Given the description of an element on the screen output the (x, y) to click on. 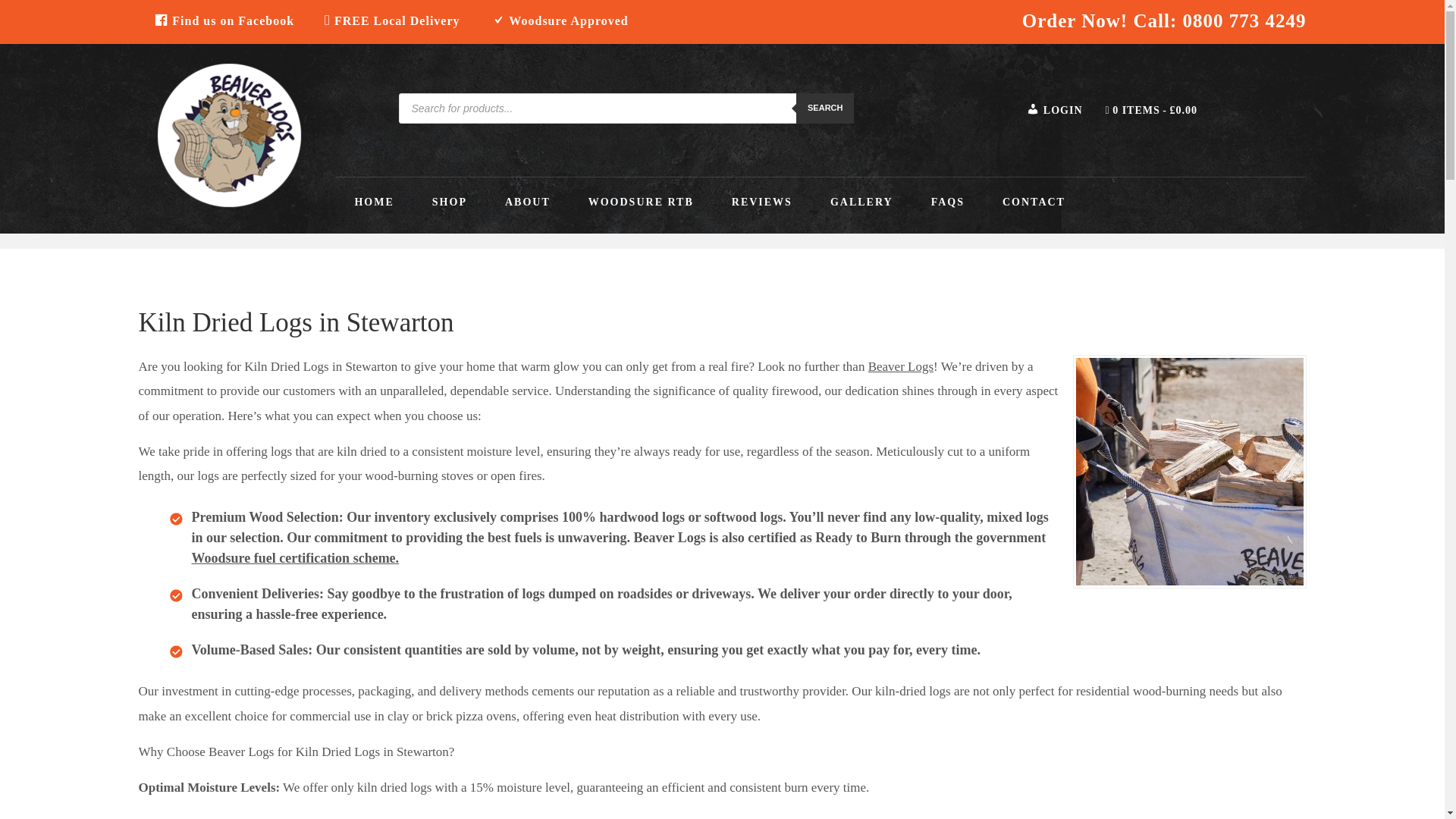
CONTACT (1034, 201)
REVIEWS (761, 201)
HOME (373, 201)
Woodsure Approved (559, 20)
SHOP (449, 201)
WOODSURE RTB (641, 201)
SEARCH (824, 107)
Find us on Facebook (223, 20)
Call: 0800 773 4249 (1219, 20)
FREE Local Delivery (391, 20)
GALLERY (861, 201)
ABOUT (527, 201)
Beaver Logs (900, 366)
FAQS (948, 201)
Woodsure fuel certification scheme. (294, 557)
